Given the description of an element on the screen output the (x, y) to click on. 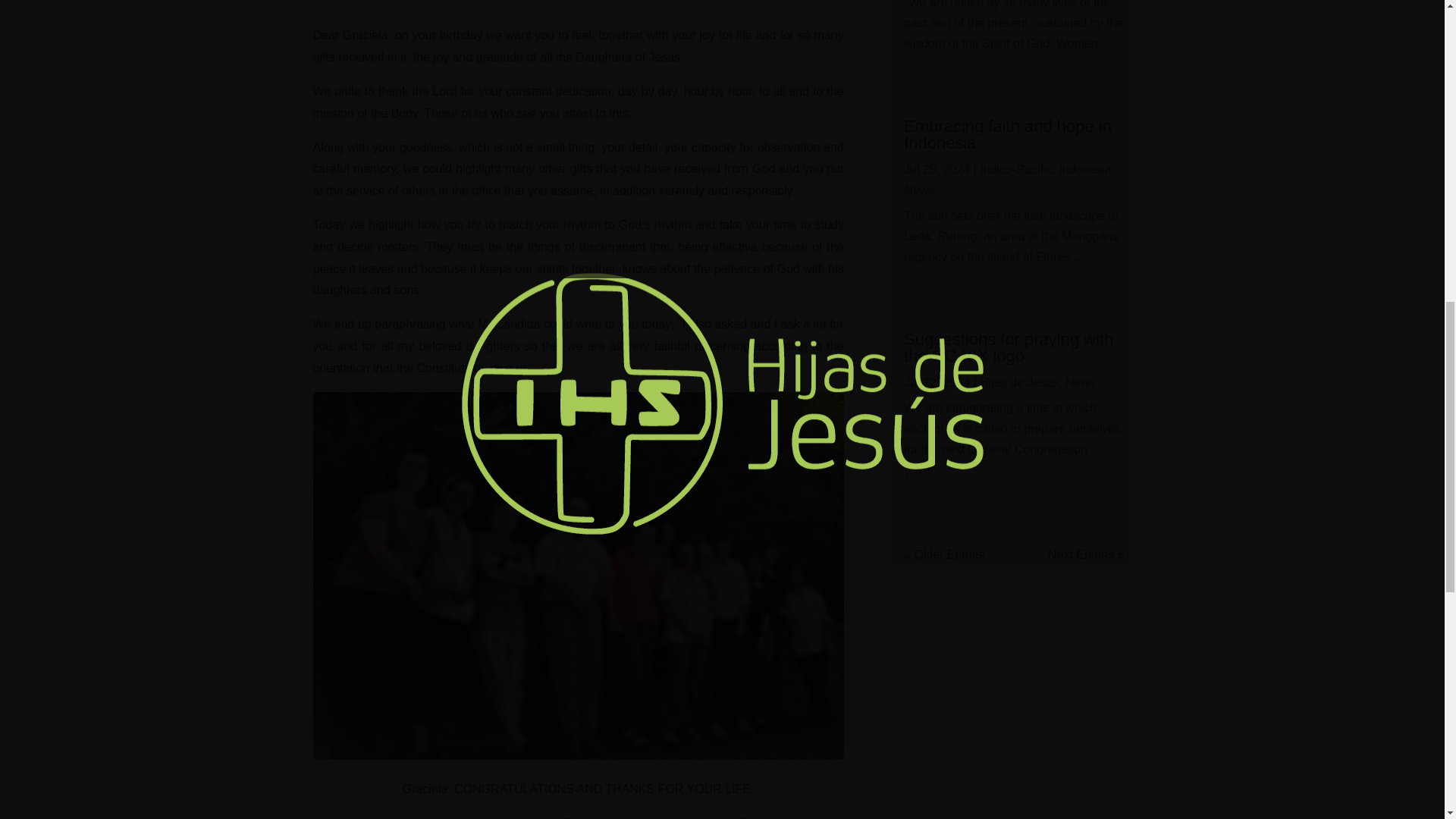
Indico-Pacific (1015, 169)
Indonesia (1084, 169)
Suggestions for praying with the GC XIX logo (1008, 347)
Embracing faith and hope in Indonesia (1008, 134)
News (1080, 382)
News (919, 189)
